Given the description of an element on the screen output the (x, y) to click on. 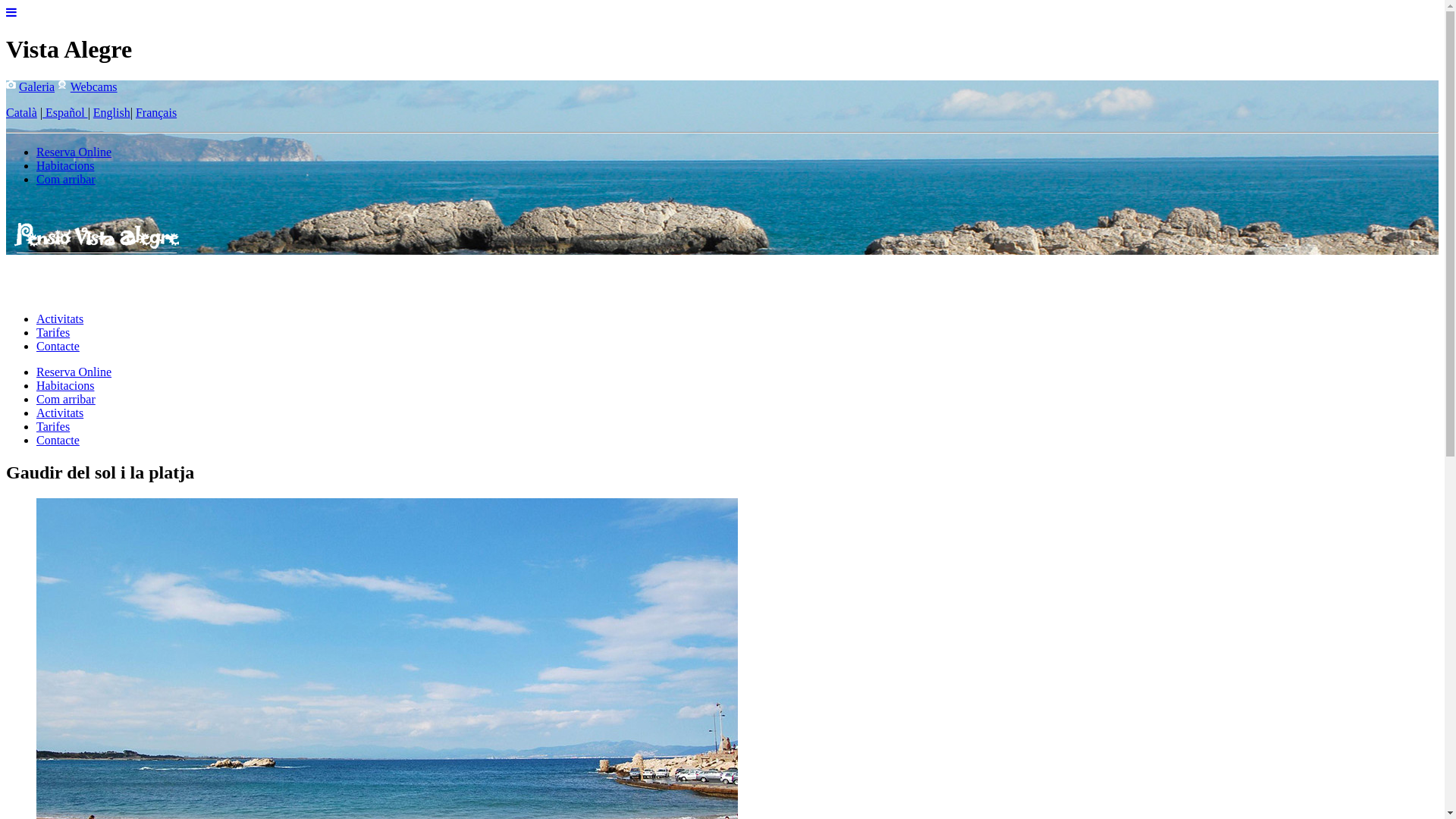
Reserva Online Element type: text (73, 151)
Tarifes Element type: text (52, 332)
Contacte Element type: text (57, 345)
Contacte Element type: text (57, 439)
Activitats Element type: text (59, 412)
Habitacions Element type: text (65, 385)
Com arribar Element type: text (65, 178)
Galeria Element type: text (36, 86)
Activitats Element type: text (59, 318)
Webcams Element type: text (93, 86)
Com arribar Element type: text (65, 398)
Reserva Online Element type: text (73, 371)
English Element type: text (111, 112)
Tarifes Element type: text (52, 426)
Habitacions Element type: text (65, 165)
